Given the description of an element on the screen output the (x, y) to click on. 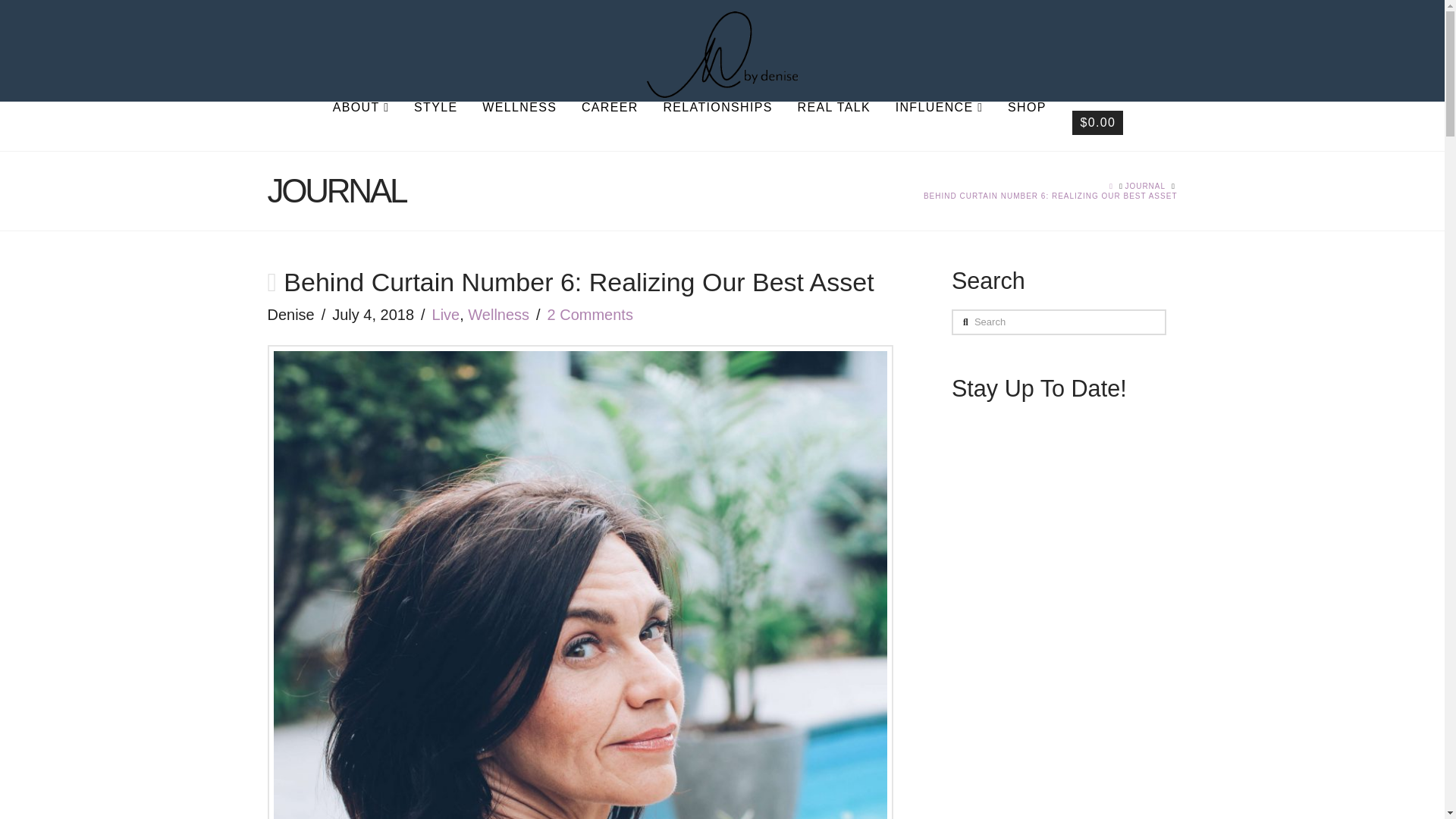
BEHIND CURTAIN NUMBER 6: REALIZING OUR BEST ASSET (1050, 195)
CAREER (609, 125)
REAL TALK (833, 125)
SHOP (1026, 125)
Wellness (498, 314)
2 Comments (590, 314)
JOURNAL (1145, 185)
You Are Here (1050, 195)
INFLUENCE (938, 125)
Live (446, 314)
